Given the description of an element on the screen output the (x, y) to click on. 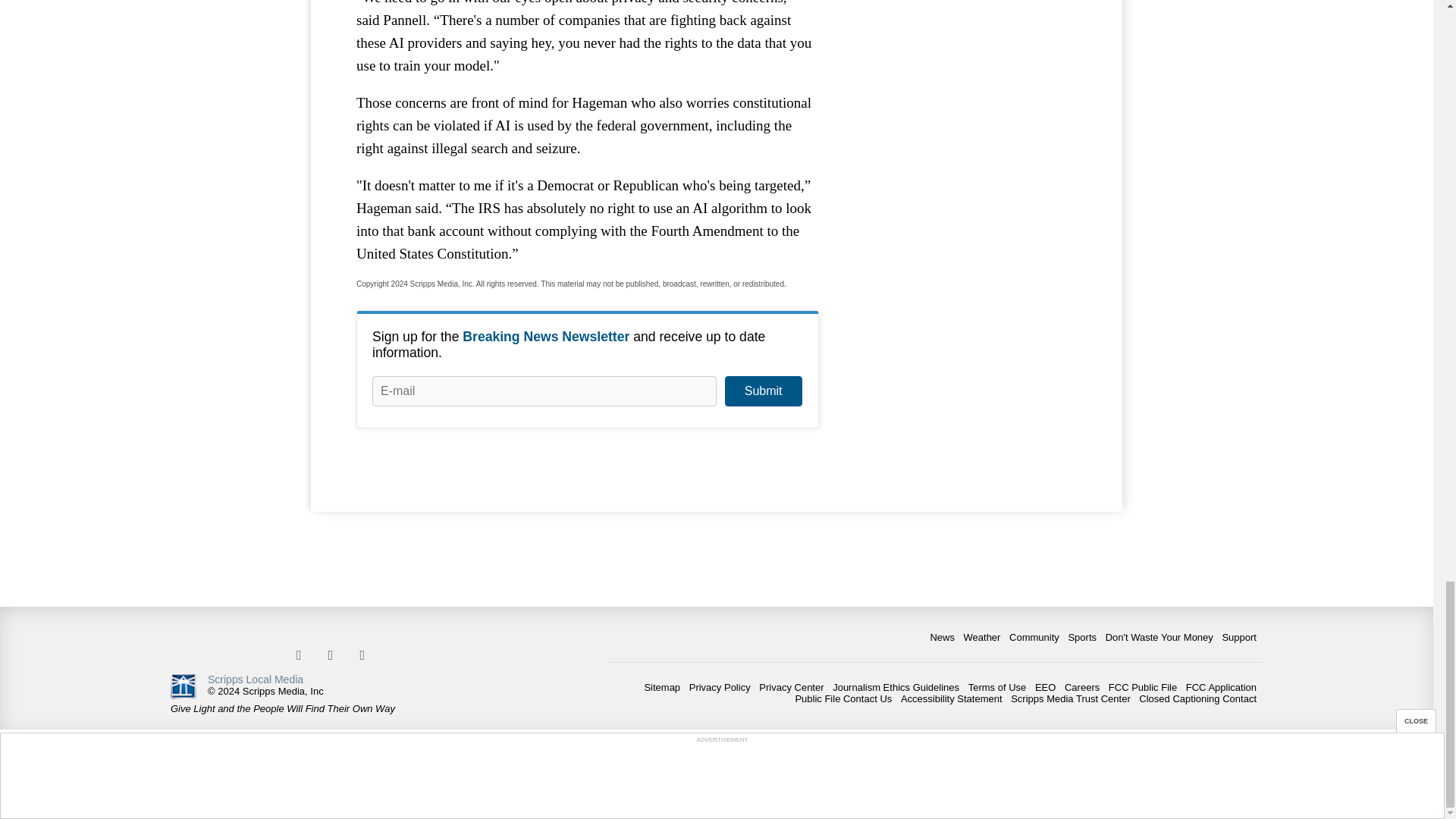
Submit (763, 390)
